Given the description of an element on the screen output the (x, y) to click on. 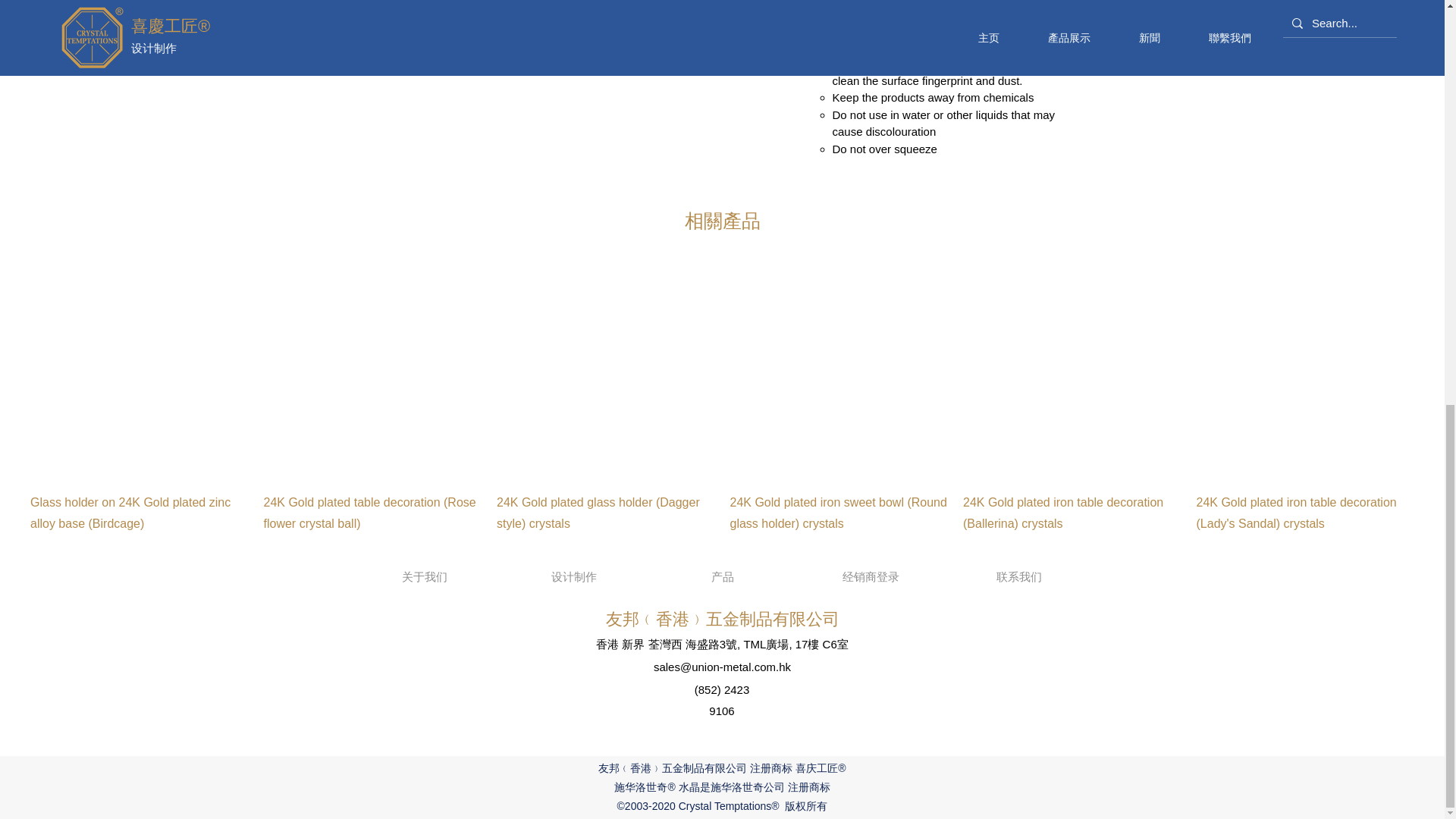
Maintenance of Metal (924, 4)
